Given the description of an element on the screen output the (x, y) to click on. 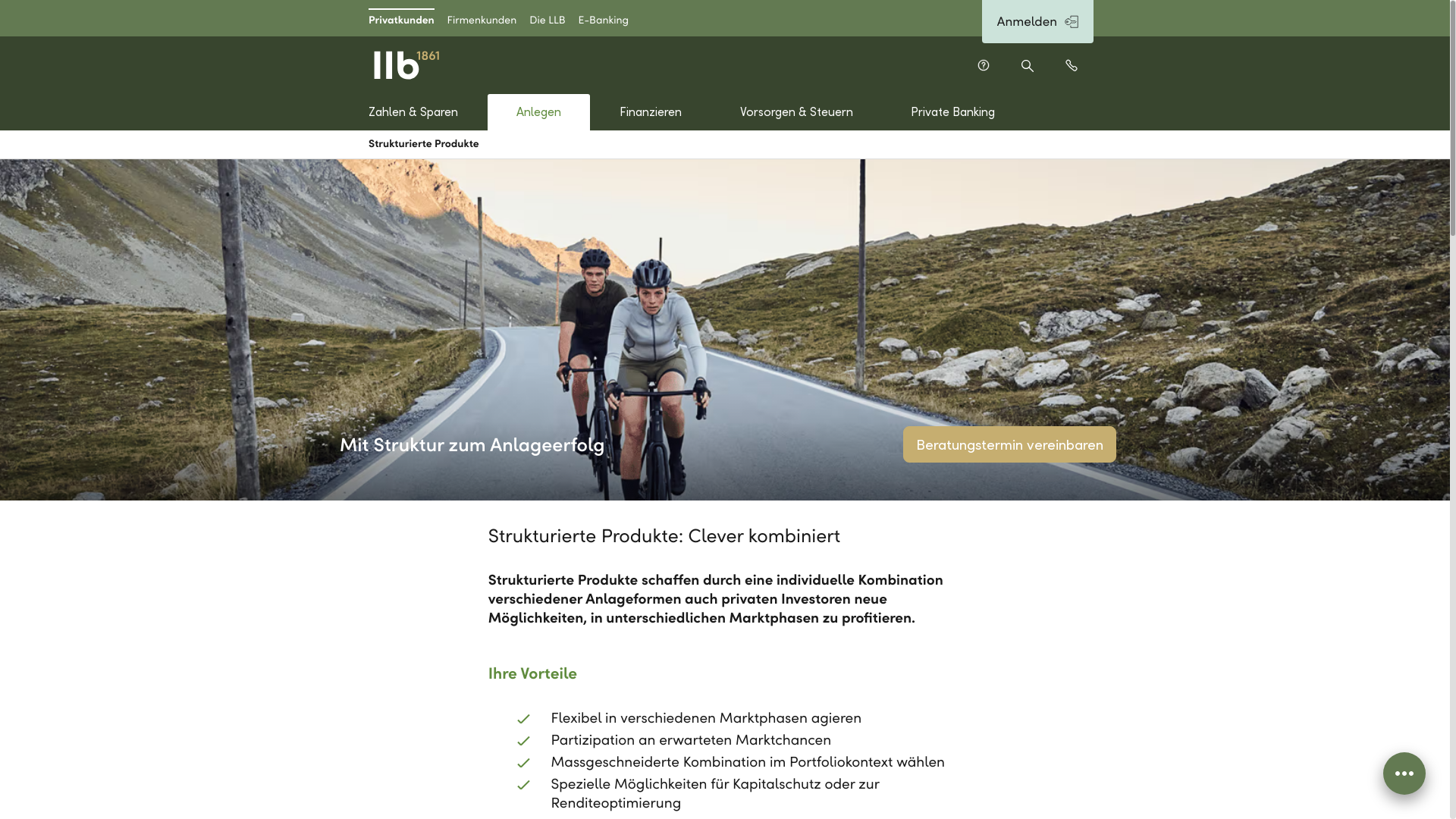
Suche Element type: text (1027, 64)
Private Banking Element type: text (952, 112)
FAB Menu Element type: text (1404, 773)
E-Banking Element type: text (603, 18)
Privatkunden Element type: text (401, 18)
Firmenkunden Element type: text (481, 18)
Beratungstermin vereinbaren Element type: text (1009, 444)
Anrufen Element type: text (1071, 64)
Vorsorgen & Steuern Element type: text (795, 112)
Strukturierte Produkte Element type: text (423, 143)
Die LLB Element type: text (547, 18)
Hilfe Element type: text (983, 64)
Anmelden Element type: text (1037, 21)
Anlegen Element type: text (538, 112)
Finanzieren Element type: text (649, 112)
Zahlen & Sparen Element type: text (413, 112)
